Given the description of an element on the screen output the (x, y) to click on. 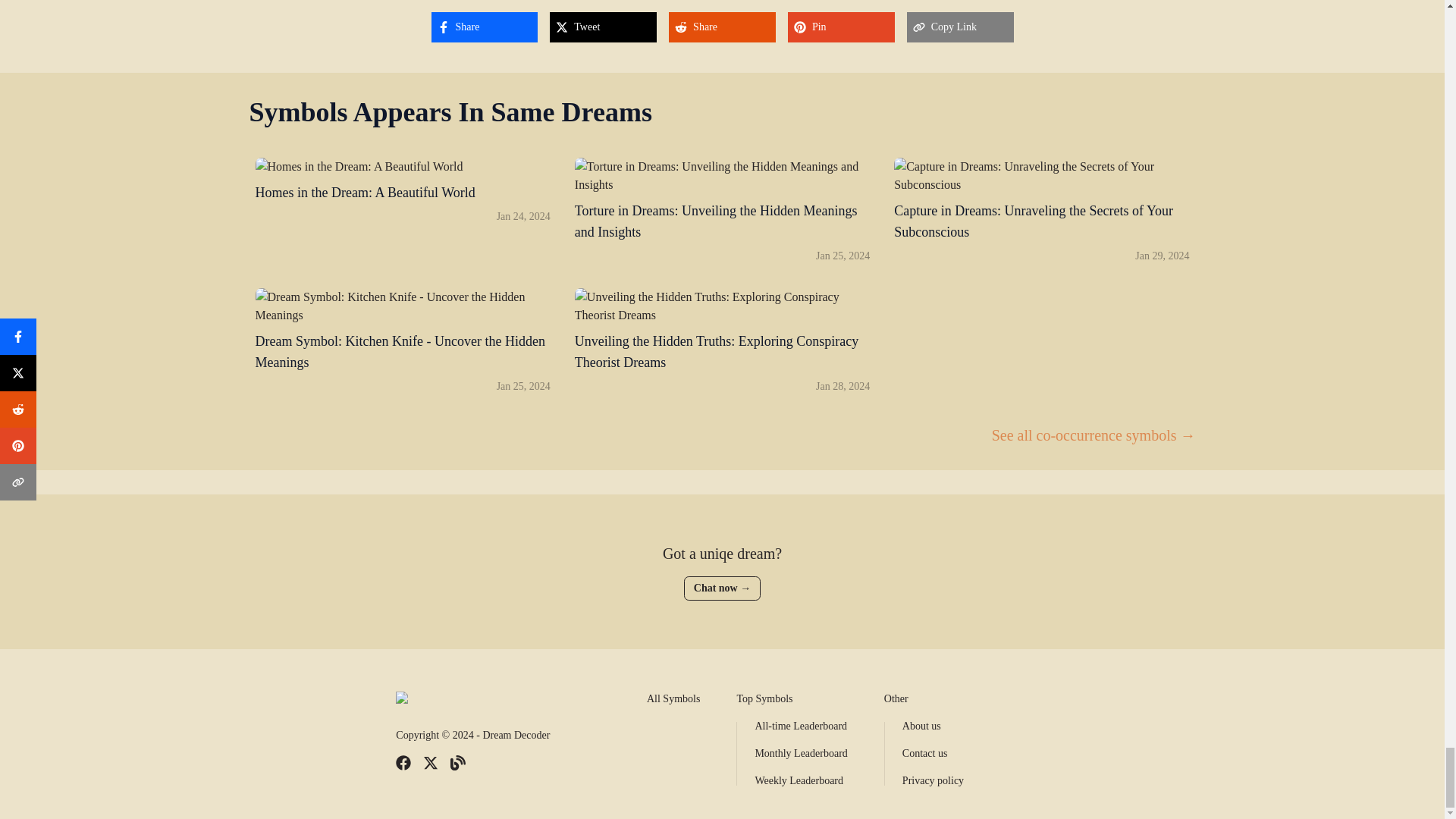
Tweet (603, 27)
All Symbols (402, 210)
All-time Leaderboard (672, 698)
Share (800, 726)
Pin (483, 27)
